Given the description of an element on the screen output the (x, y) to click on. 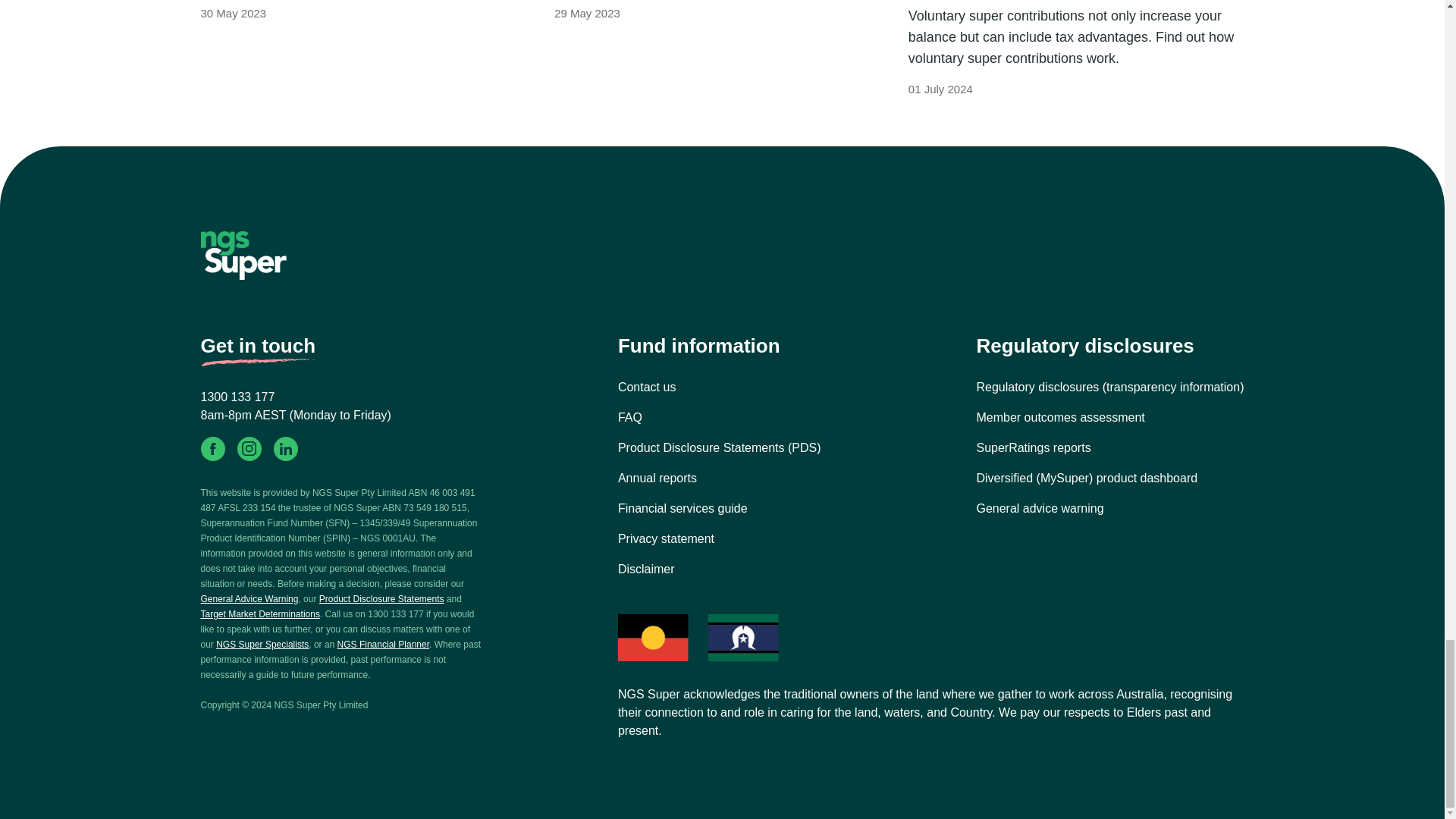
LinkedIn (285, 448)
Instagram (247, 448)
Facebook (212, 448)
